Given the description of an element on the screen output the (x, y) to click on. 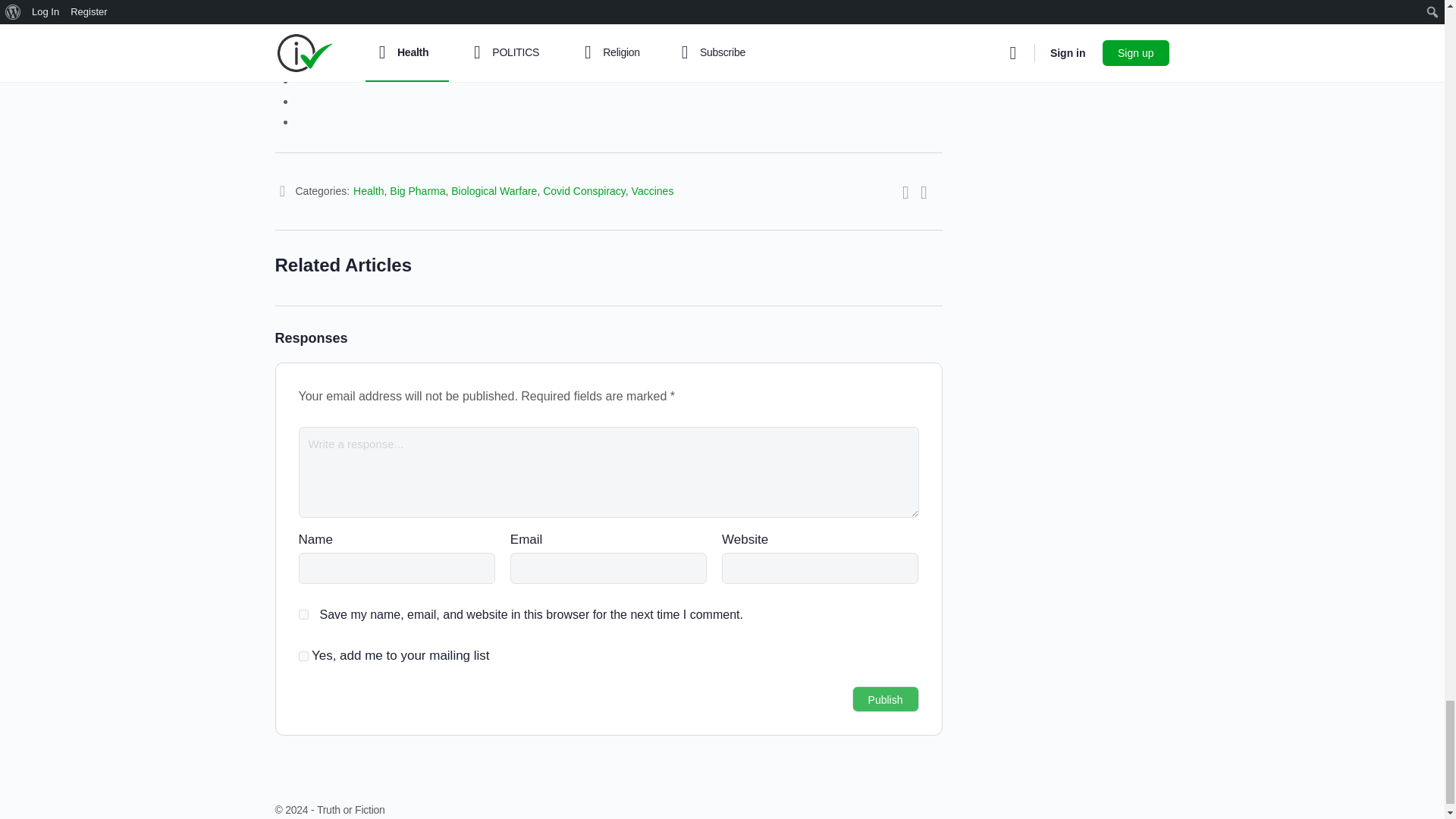
Publish (884, 698)
1 (303, 655)
